Given the description of an element on the screen output the (x, y) to click on. 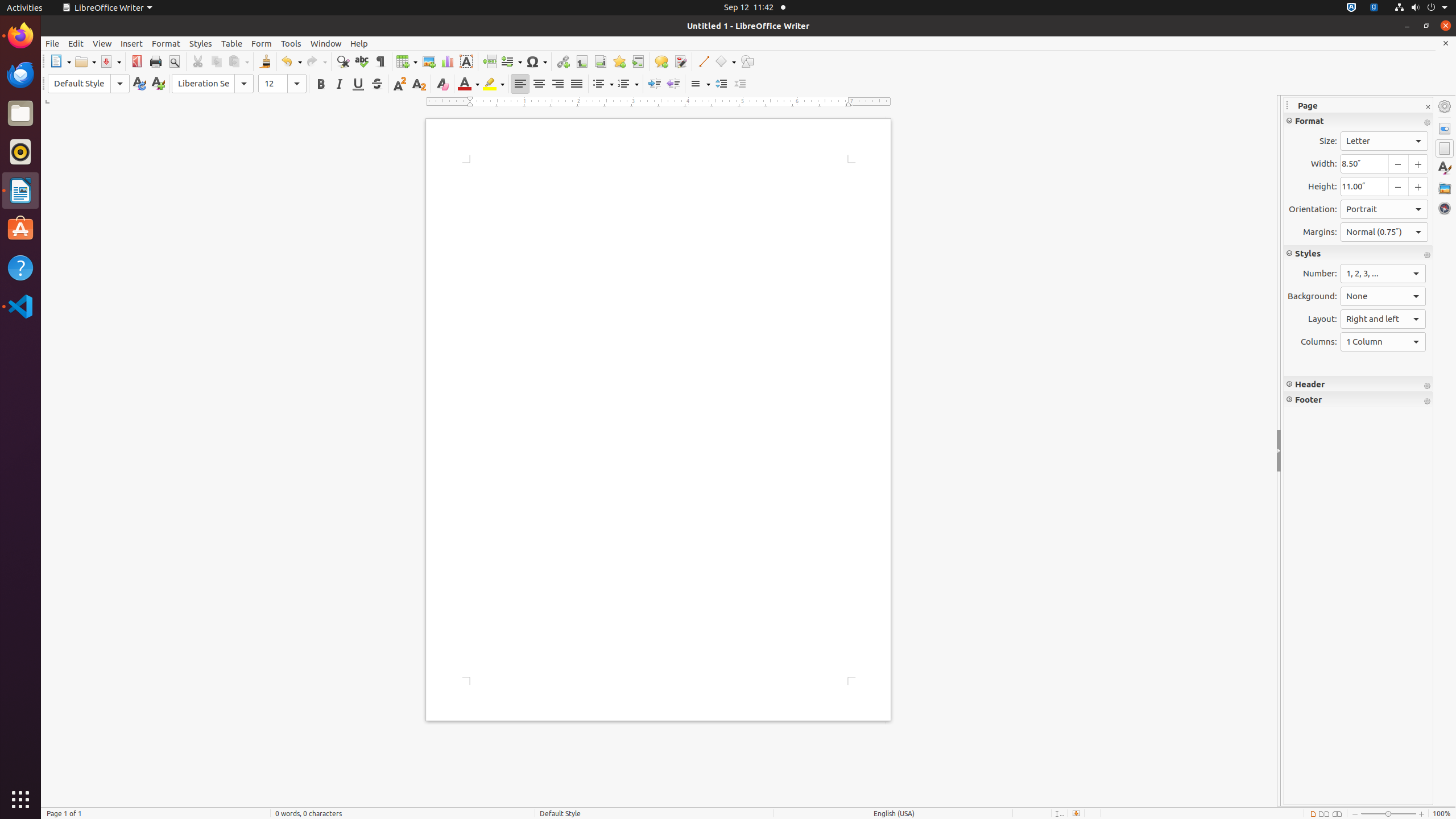
Rhythmbox Element type: push-button (20, 151)
Format Element type: menu (165, 43)
Show Applications Element type: toggle-button (20, 799)
Superscript Element type: toggle-button (399, 83)
More Options Element type: push-button (1426, 401)
